Given the description of an element on the screen output the (x, y) to click on. 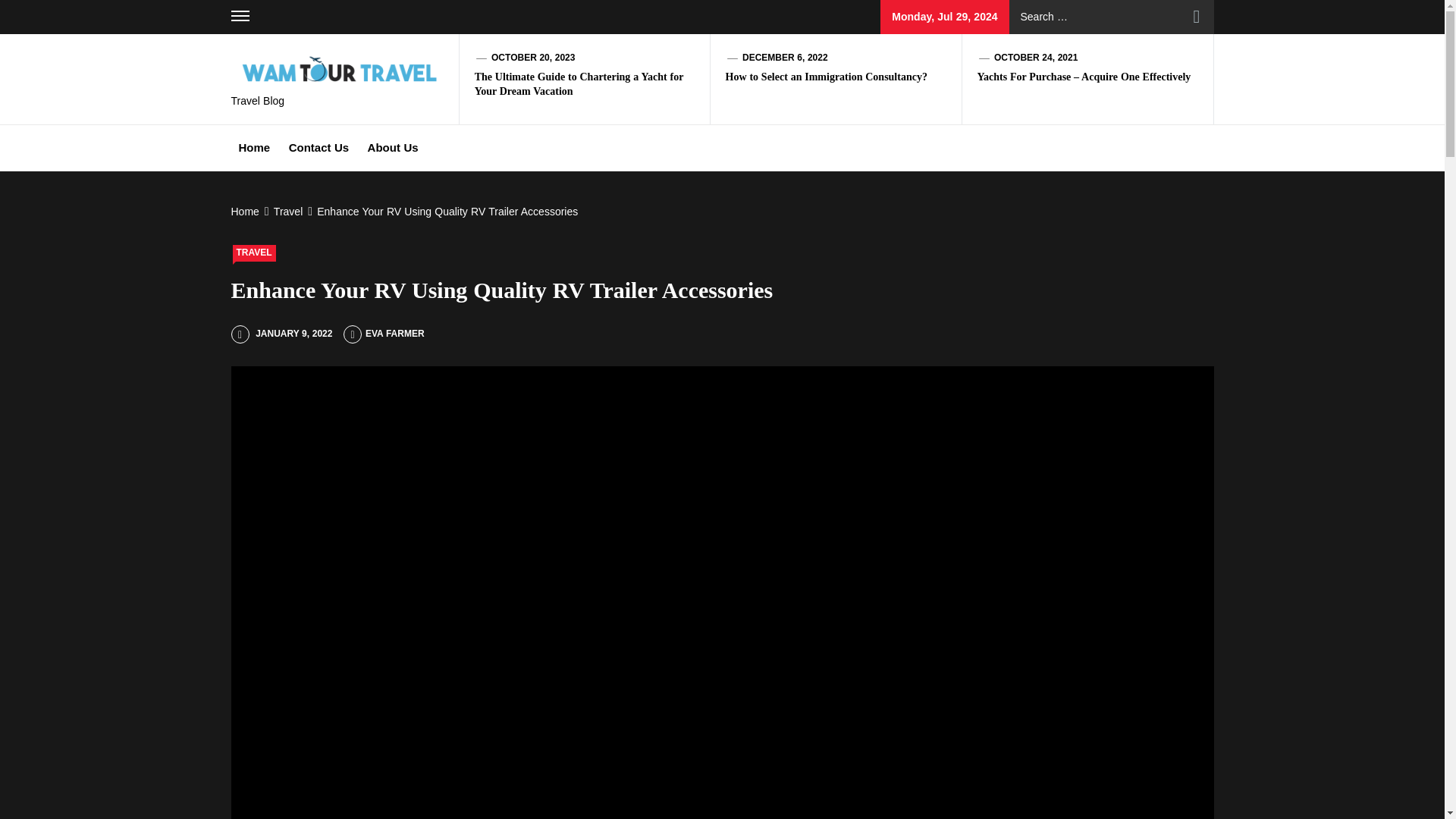
EVA FARMER (384, 333)
TRAVEL (253, 252)
How to Select an Immigration Consultancy? (826, 76)
Home (246, 211)
Search (1196, 17)
Home (254, 147)
Search (1196, 17)
JANUARY 9, 2022 (280, 333)
OCTOBER 20, 2023 (533, 57)
Contact Us (318, 147)
Travel (285, 211)
About Us (392, 147)
Search (1196, 17)
DECEMBER 6, 2022 (785, 57)
